Given the description of an element on the screen output the (x, y) to click on. 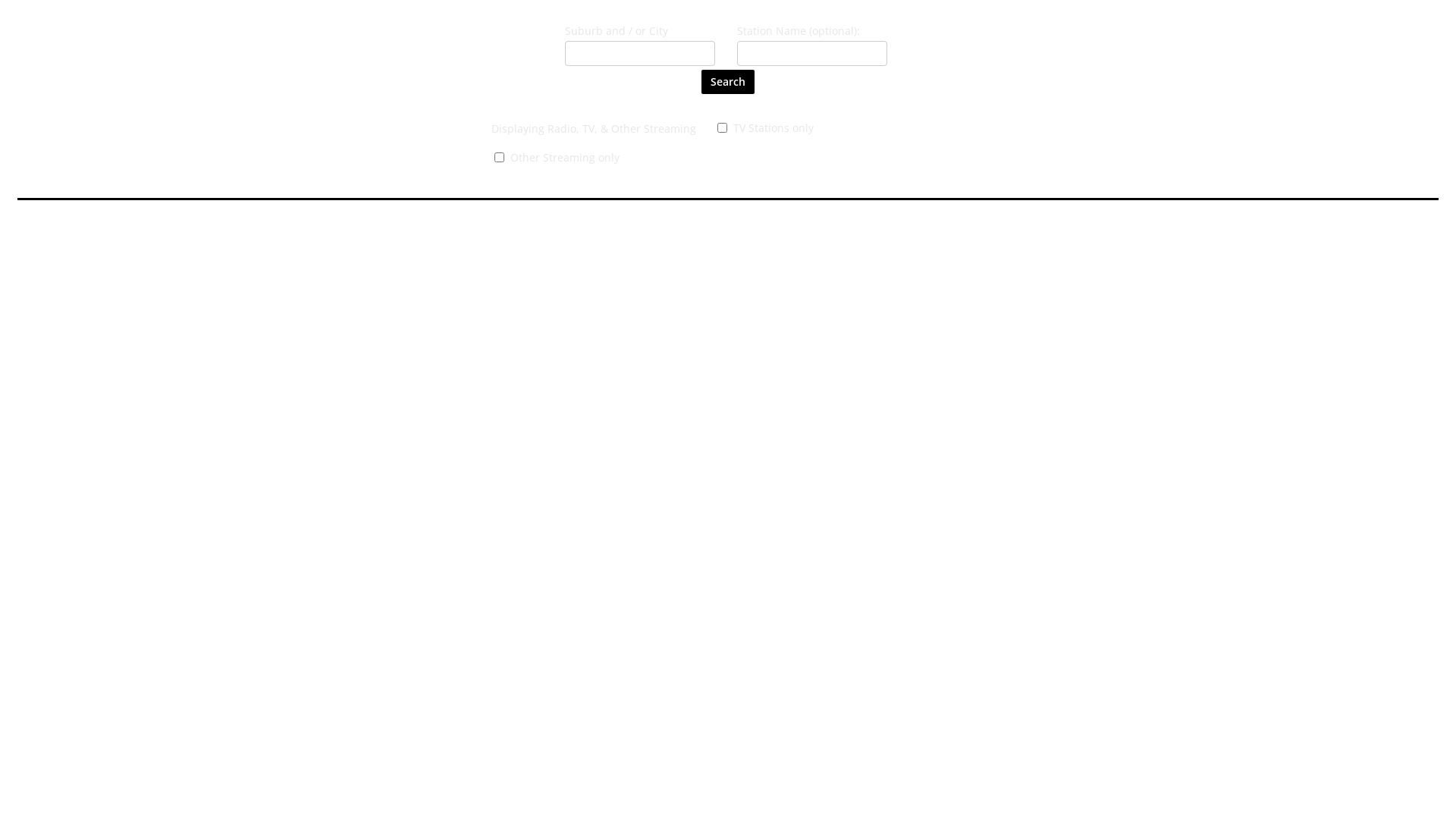
Search Element type: text (727, 81)
